Given the description of an element on the screen output the (x, y) to click on. 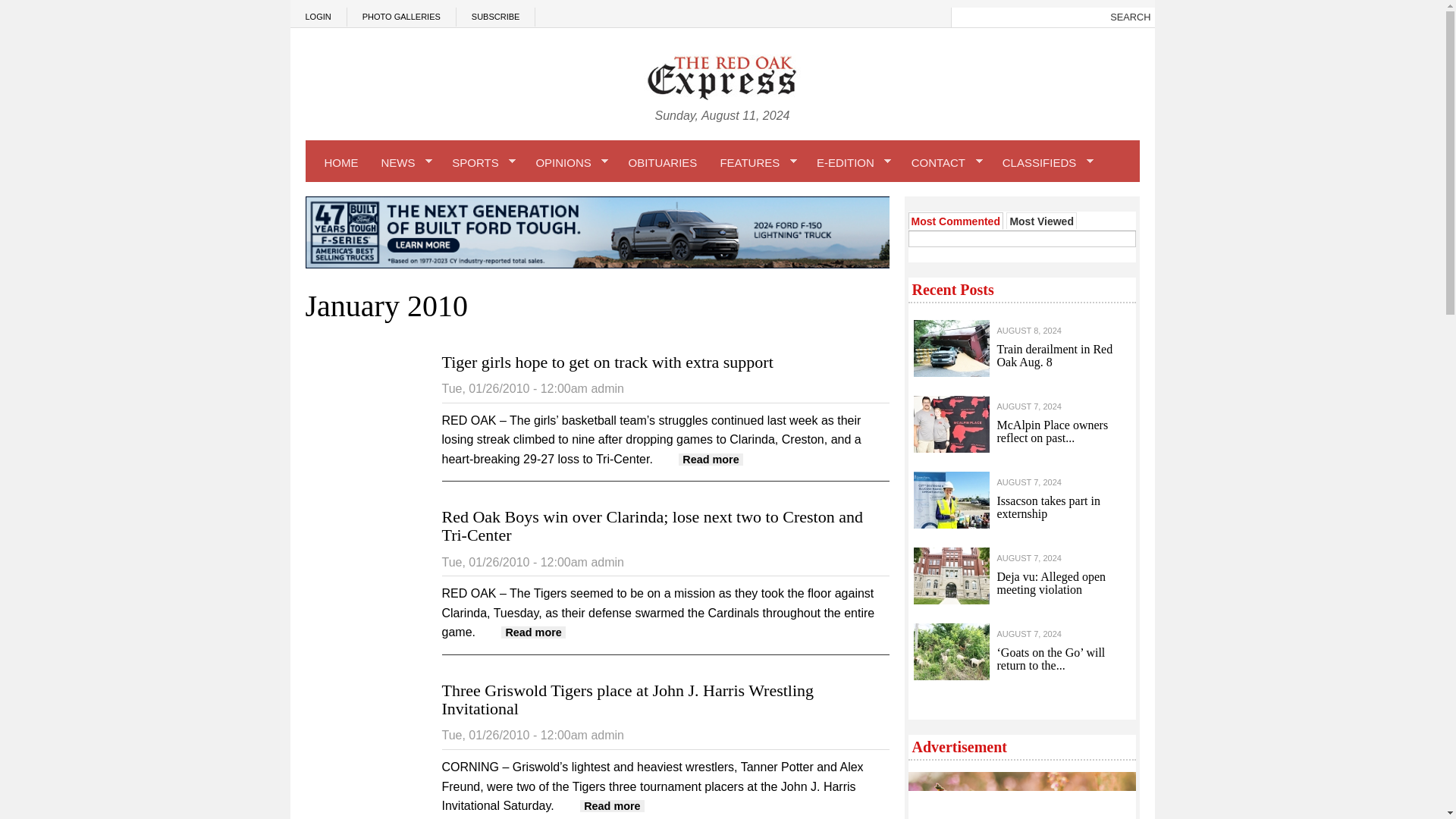
Search (1130, 17)
News (405, 162)
Features (756, 162)
Sports (482, 162)
Enter the terms you wish to search for. (1027, 17)
PHOTO GALLERIES (402, 16)
OBITUARIES (663, 162)
HOME (341, 162)
Search (1130, 17)
SUBSCRIBE (496, 16)
